Given the description of an element on the screen output the (x, y) to click on. 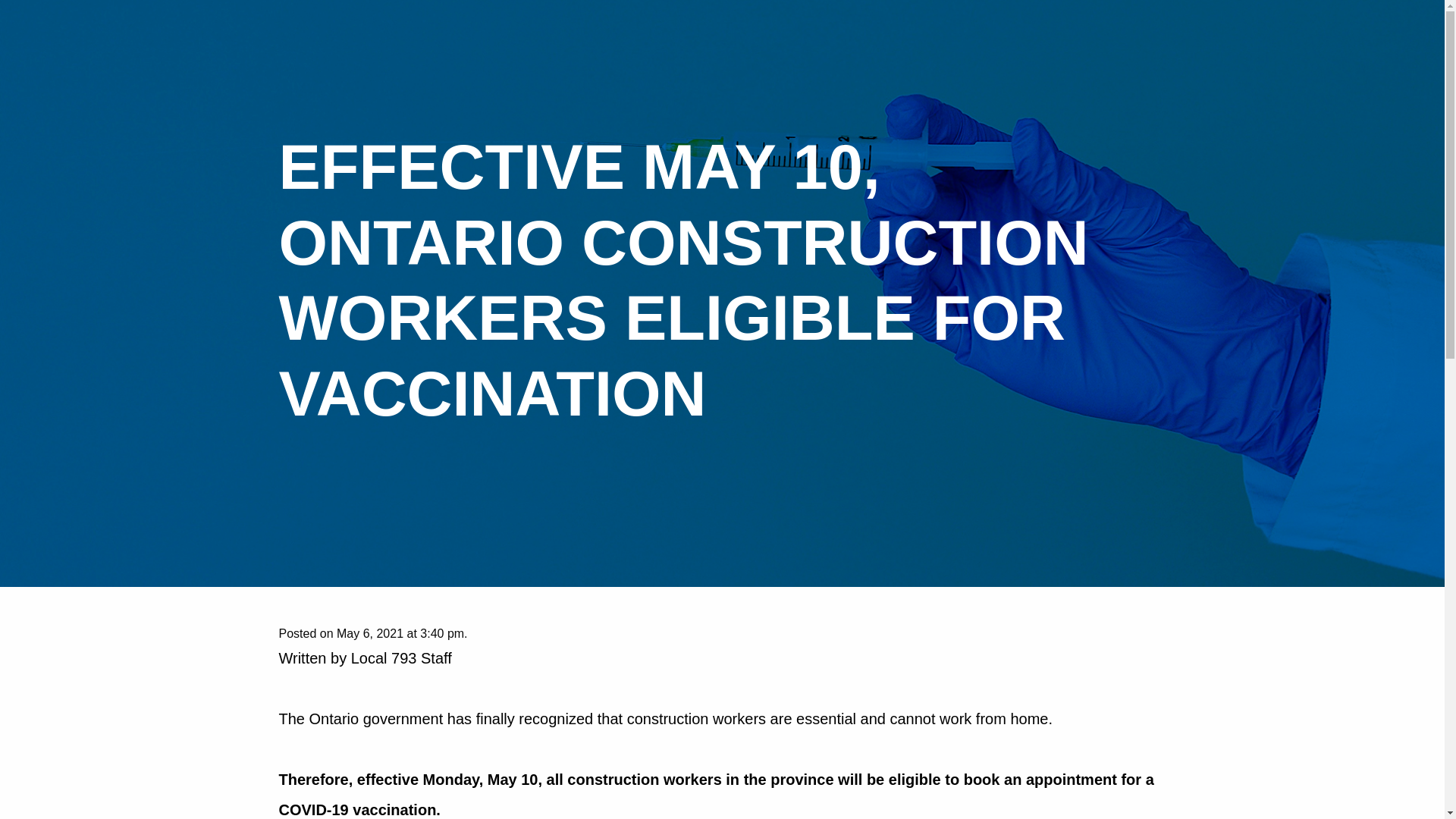
Store (1369, 16)
Register (1317, 16)
Member Login (1145, 16)
Contractor Login (1238, 16)
